Given the description of an element on the screen output the (x, y) to click on. 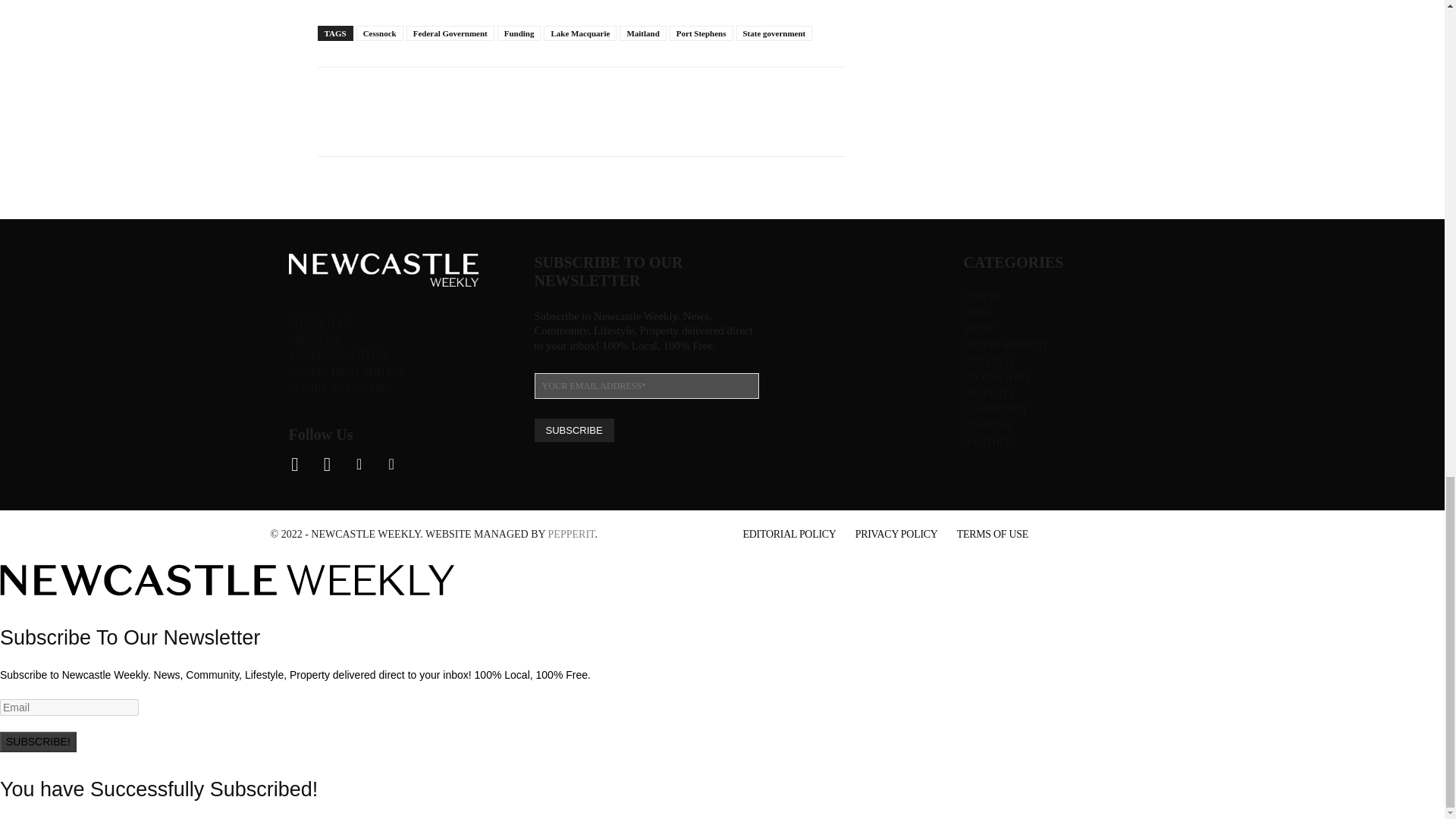
SUBSCRIBE (573, 430)
